Given the description of an element on the screen output the (x, y) to click on. 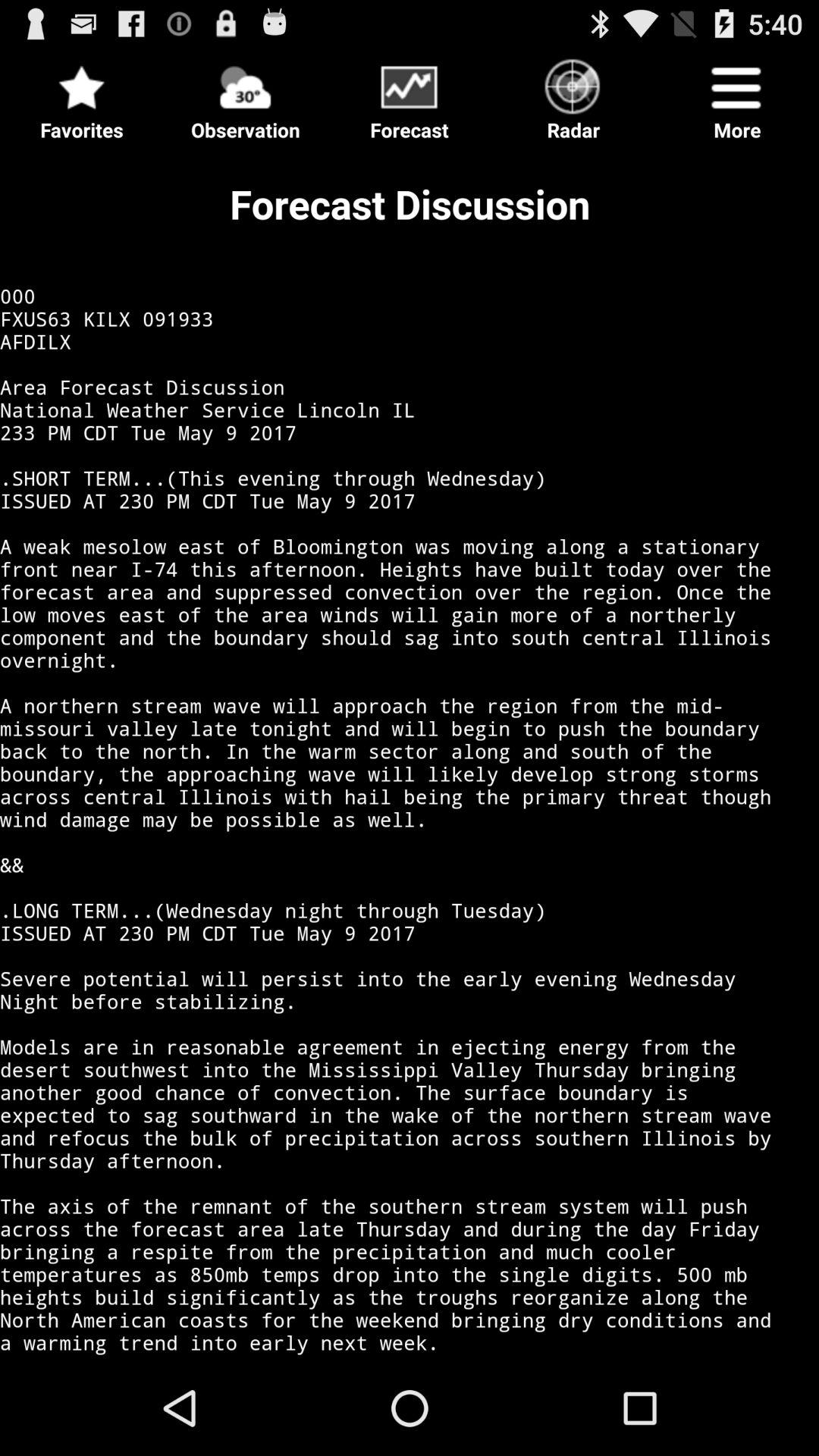
choose item next to the forecast icon (245, 95)
